Given the description of an element on the screen output the (x, y) to click on. 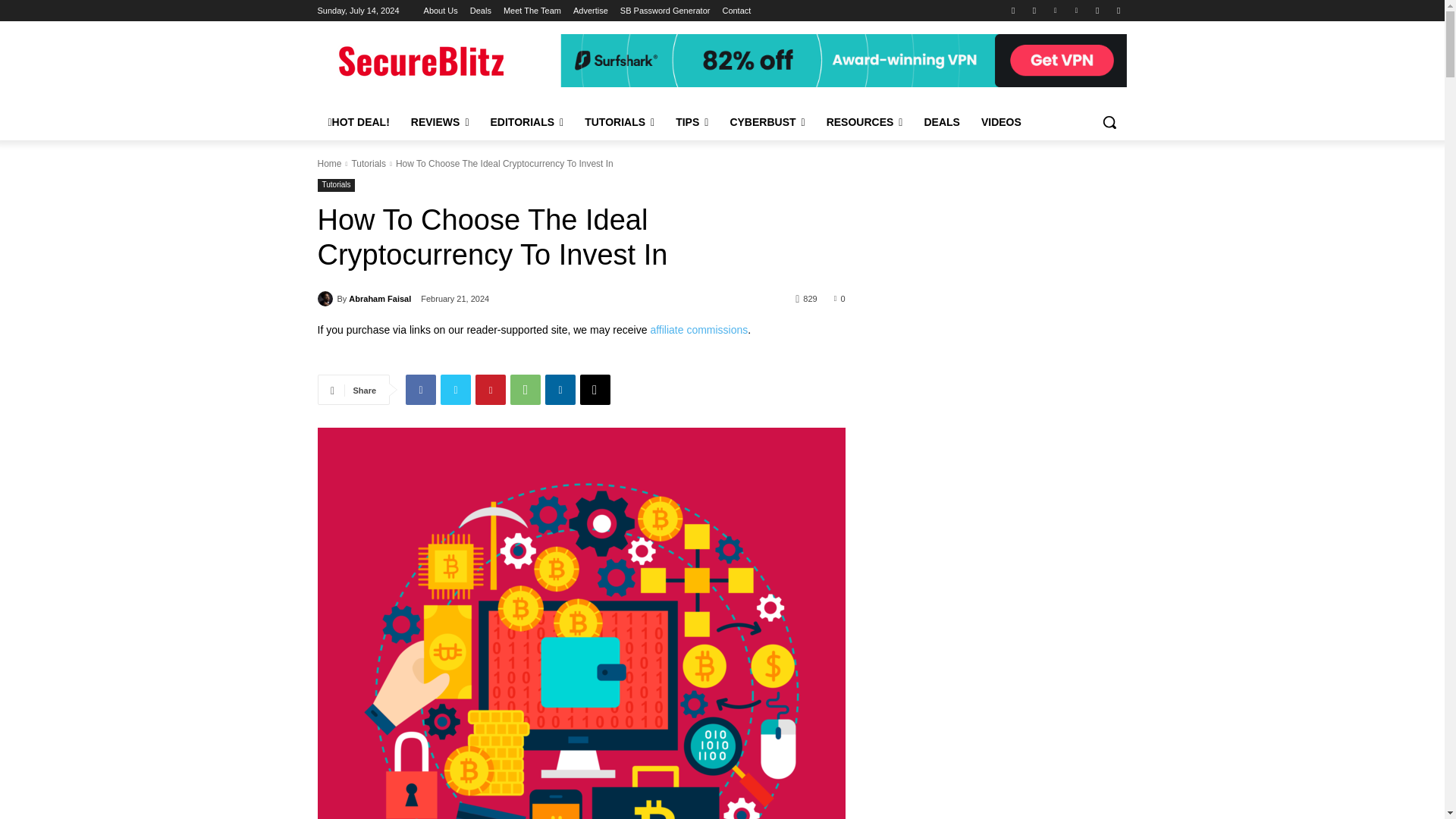
Facebook (1013, 9)
Instagram (1034, 9)
SecureBlitz Cybersecurity blog logo (438, 62)
SB Password Generator (665, 10)
Advertise (590, 10)
REVIEWS (440, 122)
About Us (440, 10)
Linkedin (1055, 9)
Deals (481, 10)
